Given the description of an element on the screen output the (x, y) to click on. 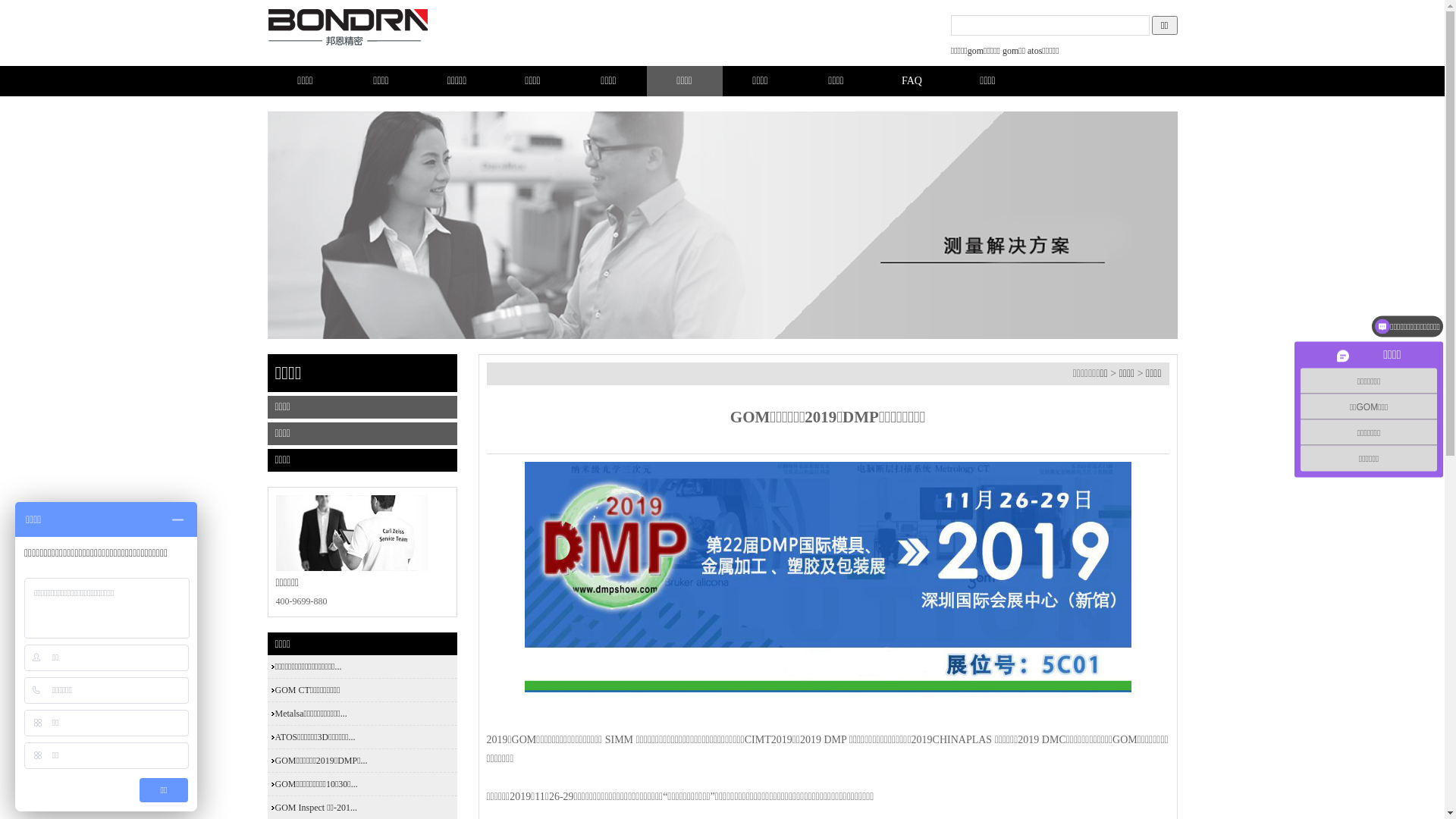
FAQ Element type: text (911, 80)
